Given the description of an element on the screen output the (x, y) to click on. 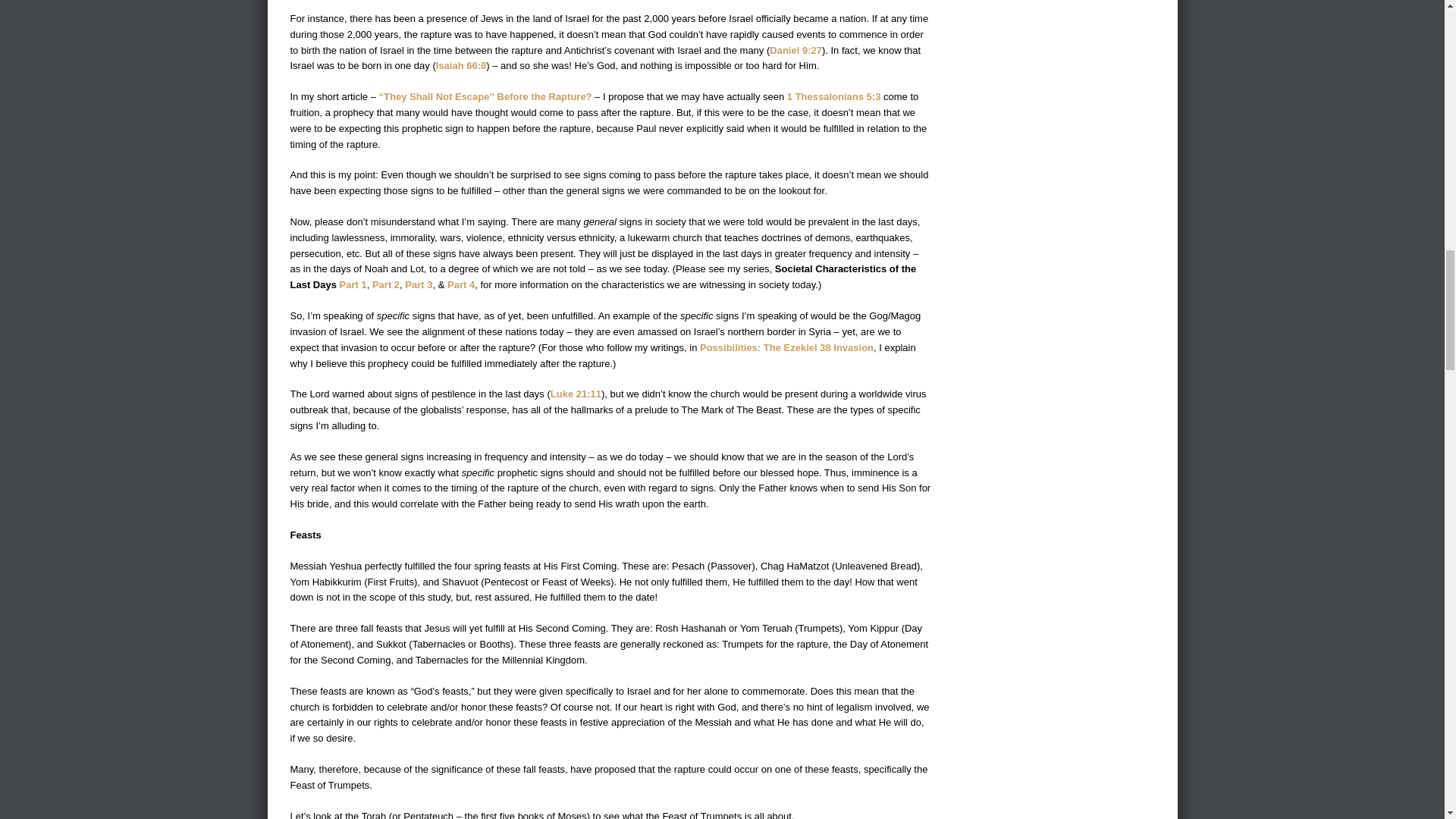
Part (413, 284)
1 Thessalonians 5:3 (833, 96)
Part (348, 284)
Luke 21:11 (575, 393)
Part (381, 284)
Isaiah 66:8 (460, 65)
Possibilities: The Ezekiel 38 (765, 347)
Invasion (852, 347)
Daniel 9:27 (796, 49)
Part (455, 284)
